Given the description of an element on the screen output the (x, y) to click on. 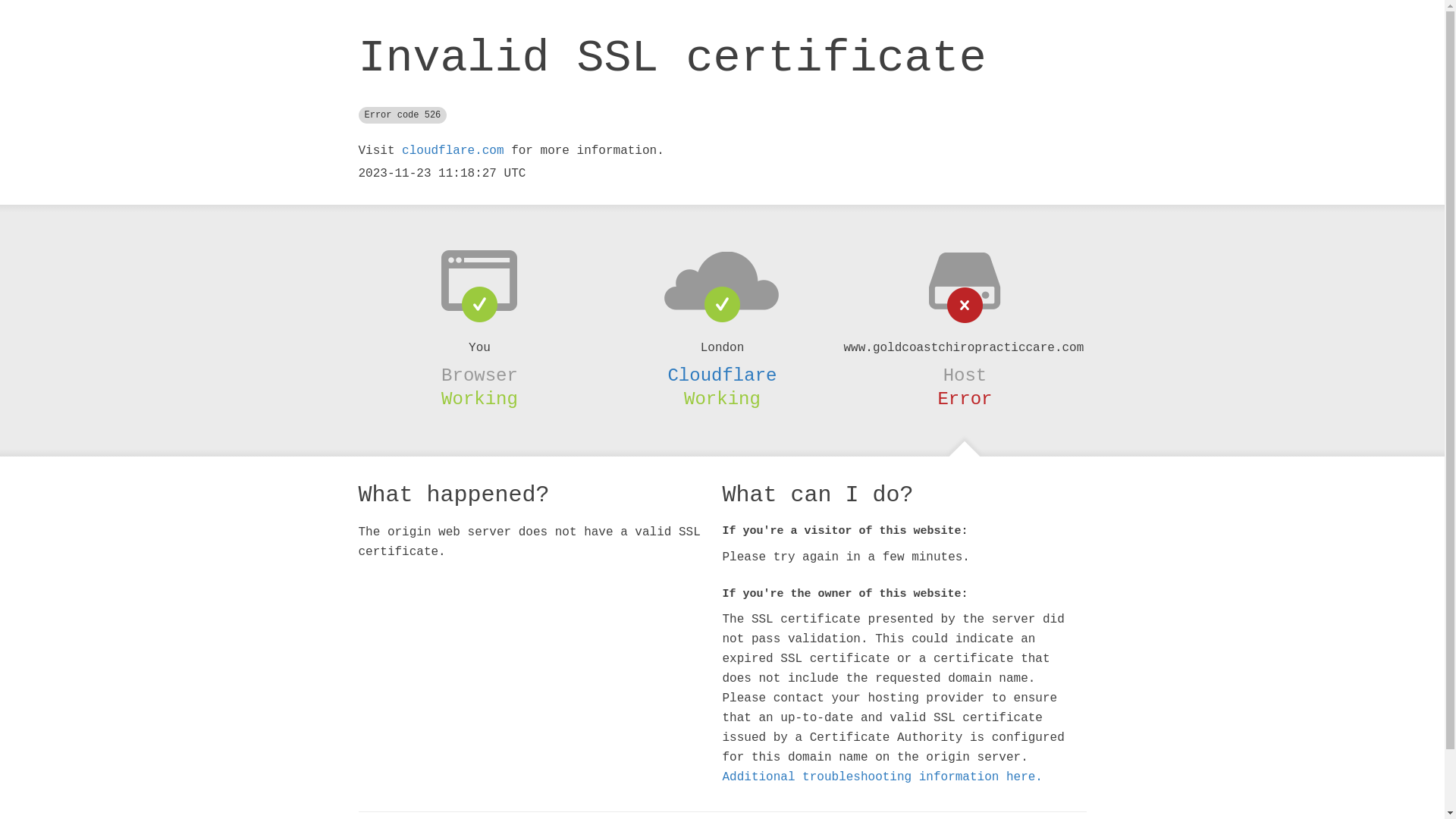
Cloudflare Element type: text (721, 375)
Additional troubleshooting information here. Element type: text (881, 777)
cloudflare.com Element type: text (452, 150)
